Given the description of an element on the screen output the (x, y) to click on. 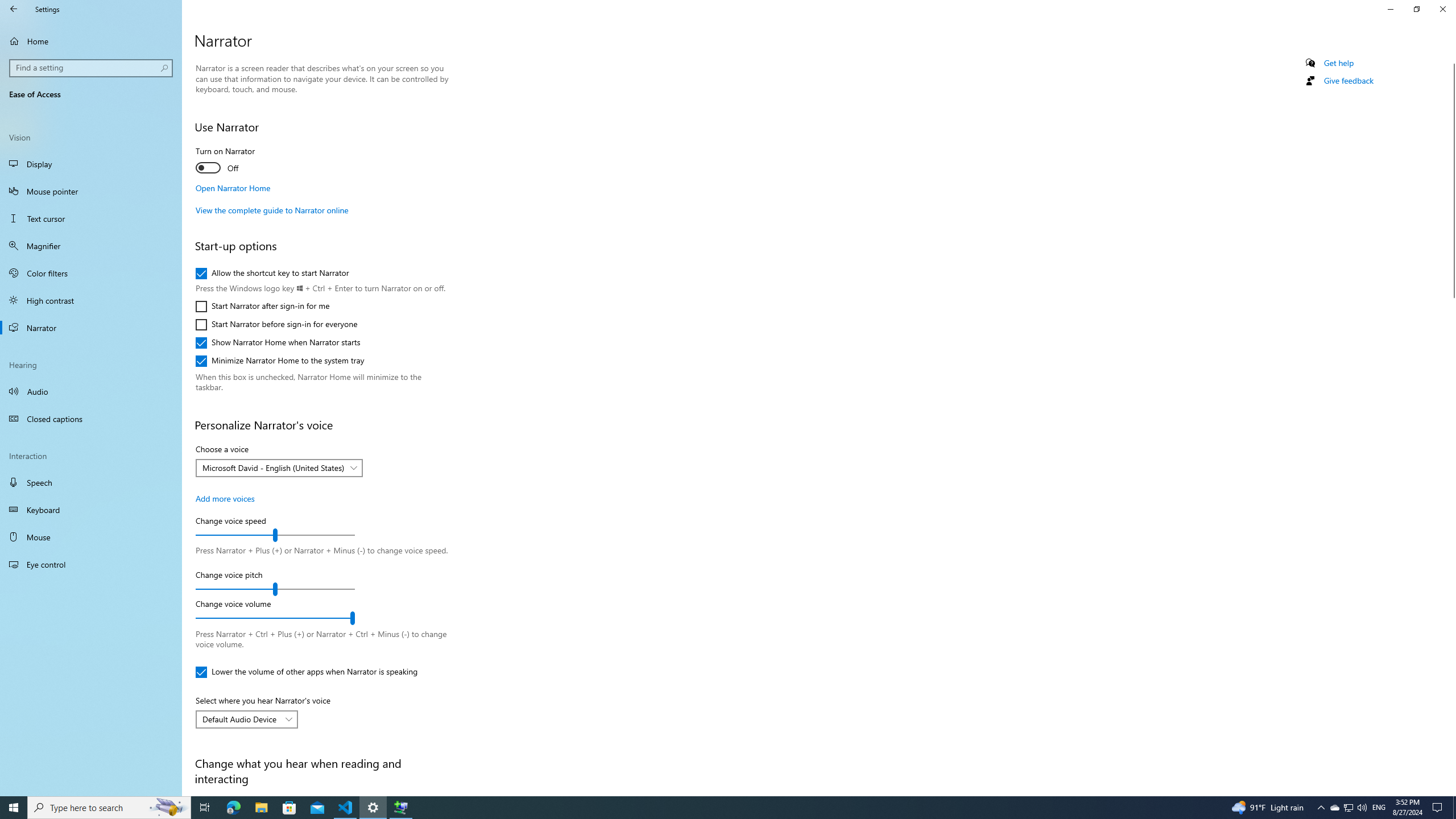
Choose a voice (278, 467)
Magnifier (91, 245)
Start Narrator after sign-in for me (262, 306)
Change voice pitch (275, 588)
Add more voices (224, 498)
Open Narrator Home (232, 187)
Keyboard (91, 509)
Close Settings (1442, 9)
Change voice speed (275, 534)
Mouse pointer (91, 190)
Color filters (91, 272)
Microsoft Edge (233, 807)
User Promoted Notification Area (1347, 807)
Speech (1347, 807)
